Given the description of an element on the screen output the (x, y) to click on. 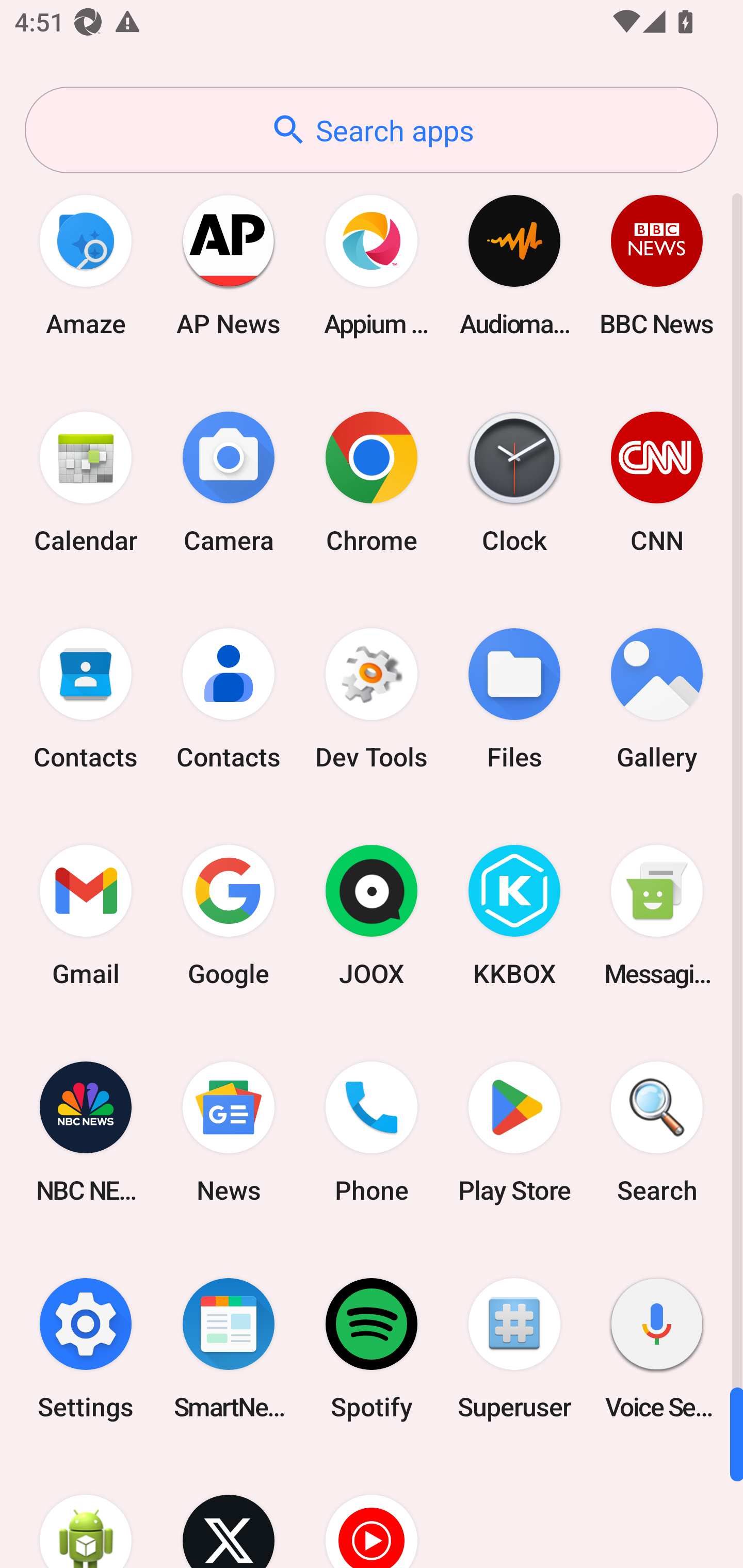
  Search apps (371, 130)
Amaze (85, 264)
AP News (228, 264)
Appium Settings (371, 264)
Audio­mack (514, 264)
BBC News (656, 264)
Calendar (85, 482)
Camera (228, 482)
Chrome (371, 482)
Clock (514, 482)
CNN (656, 482)
Contacts (85, 699)
Contacts (228, 699)
Dev Tools (371, 699)
Files (514, 699)
Gallery (656, 699)
Gmail (85, 915)
Google (228, 915)
JOOX (371, 915)
KKBOX (514, 915)
Messaging (656, 915)
NBC NEWS (85, 1131)
News (228, 1131)
Phone (371, 1131)
Play Store (514, 1131)
Search (656, 1131)
Settings (85, 1348)
SmartNews (228, 1348)
Spotify (371, 1348)
Superuser (514, 1348)
Voice Search (656, 1348)
WebView Browser Tester (85, 1512)
X (228, 1512)
YT Music (371, 1512)
